Given the description of an element on the screen output the (x, y) to click on. 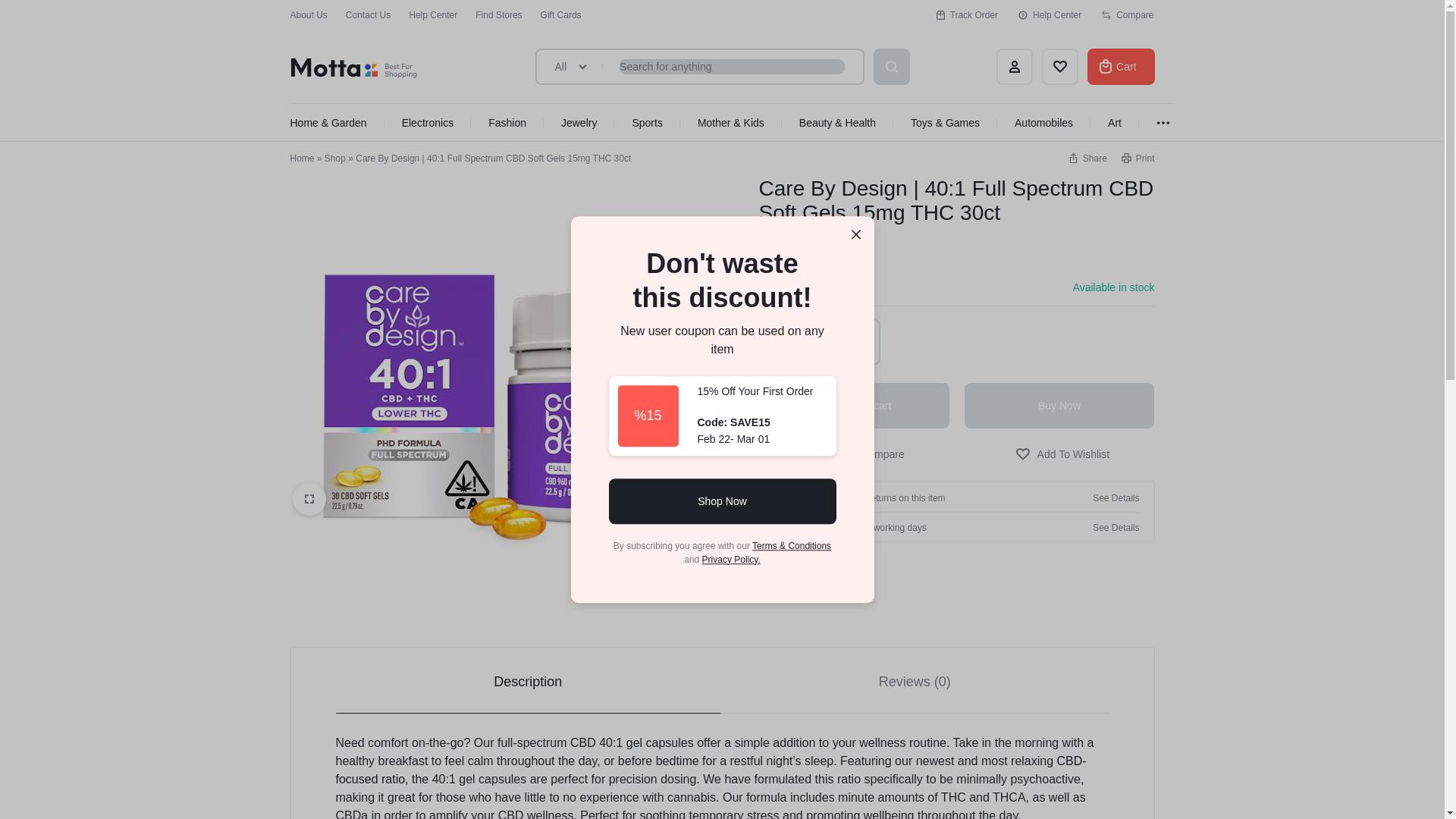
Electronics (426, 122)
Compare (1126, 15)
About Us (307, 15)
Help Center (1049, 15)
Find Stores (498, 15)
Help Center (433, 15)
Cart (1120, 66)
Track Order (966, 15)
Gift Cards (560, 15)
Contact Us (368, 15)
